Given the description of an element on the screen output the (x, y) to click on. 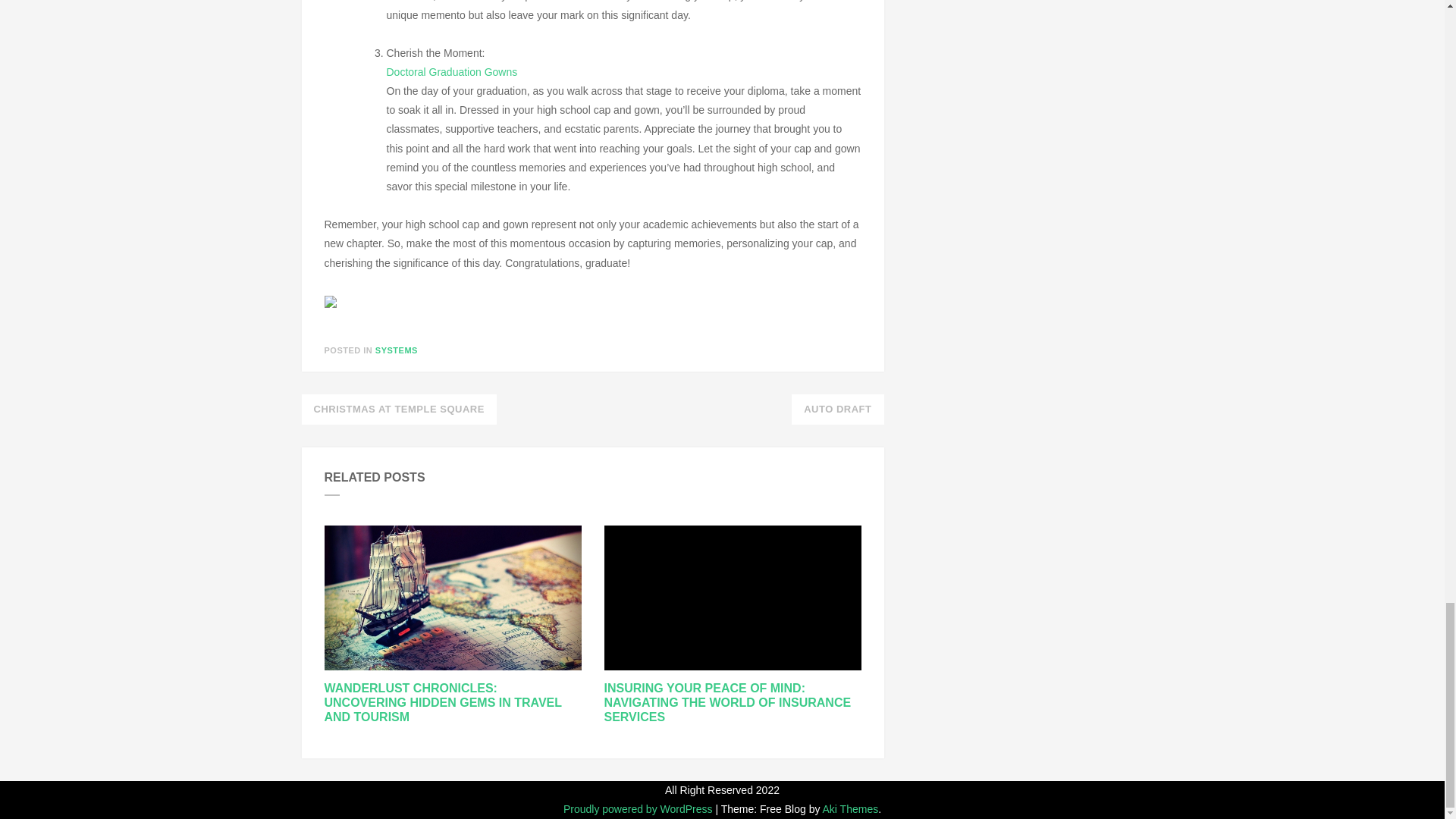
CHRISTMAS AT TEMPLE SQUARE (398, 409)
Doctoral Graduation Gowns (452, 71)
AUTO DRAFT (837, 409)
Proudly powered by WordPress (639, 808)
Aki Themes (850, 808)
SYSTEMS (396, 349)
